Given the description of an element on the screen output the (x, y) to click on. 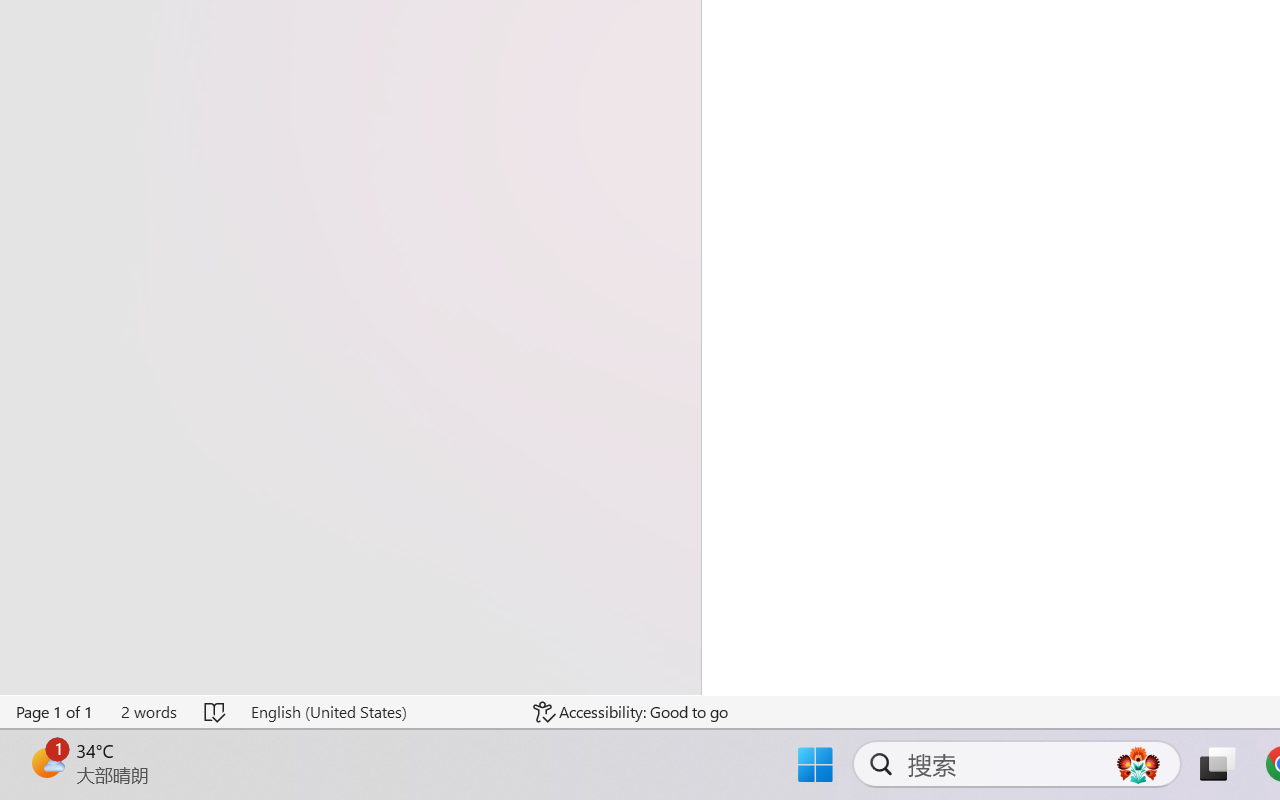
Page Number Page 1 of 1 (55, 712)
